Given the description of an element on the screen output the (x, y) to click on. 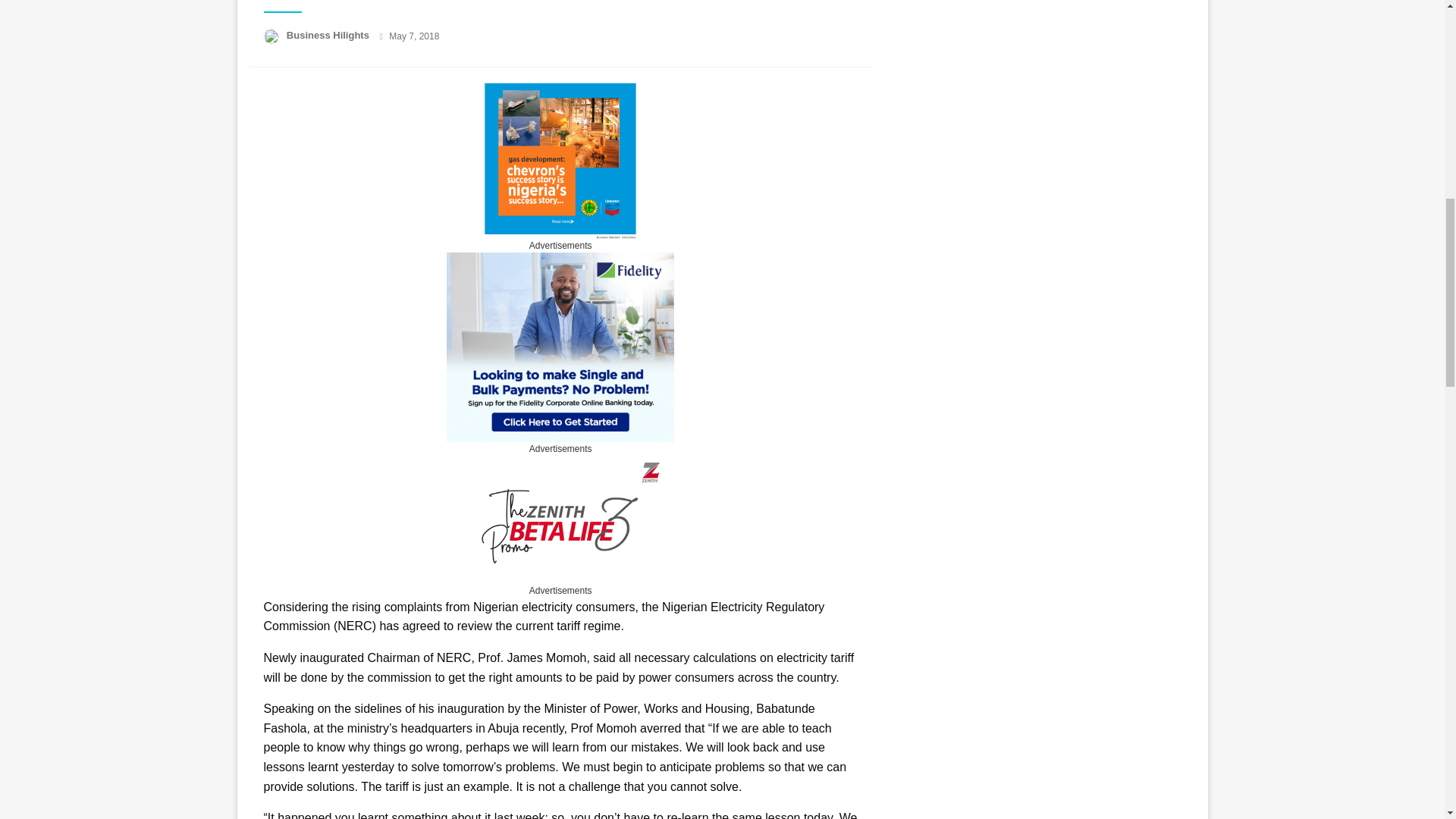
Business Hilights (329, 34)
Business Hilights (329, 34)
May 7, 2018 (413, 36)
